Given the description of an element on the screen output the (x, y) to click on. 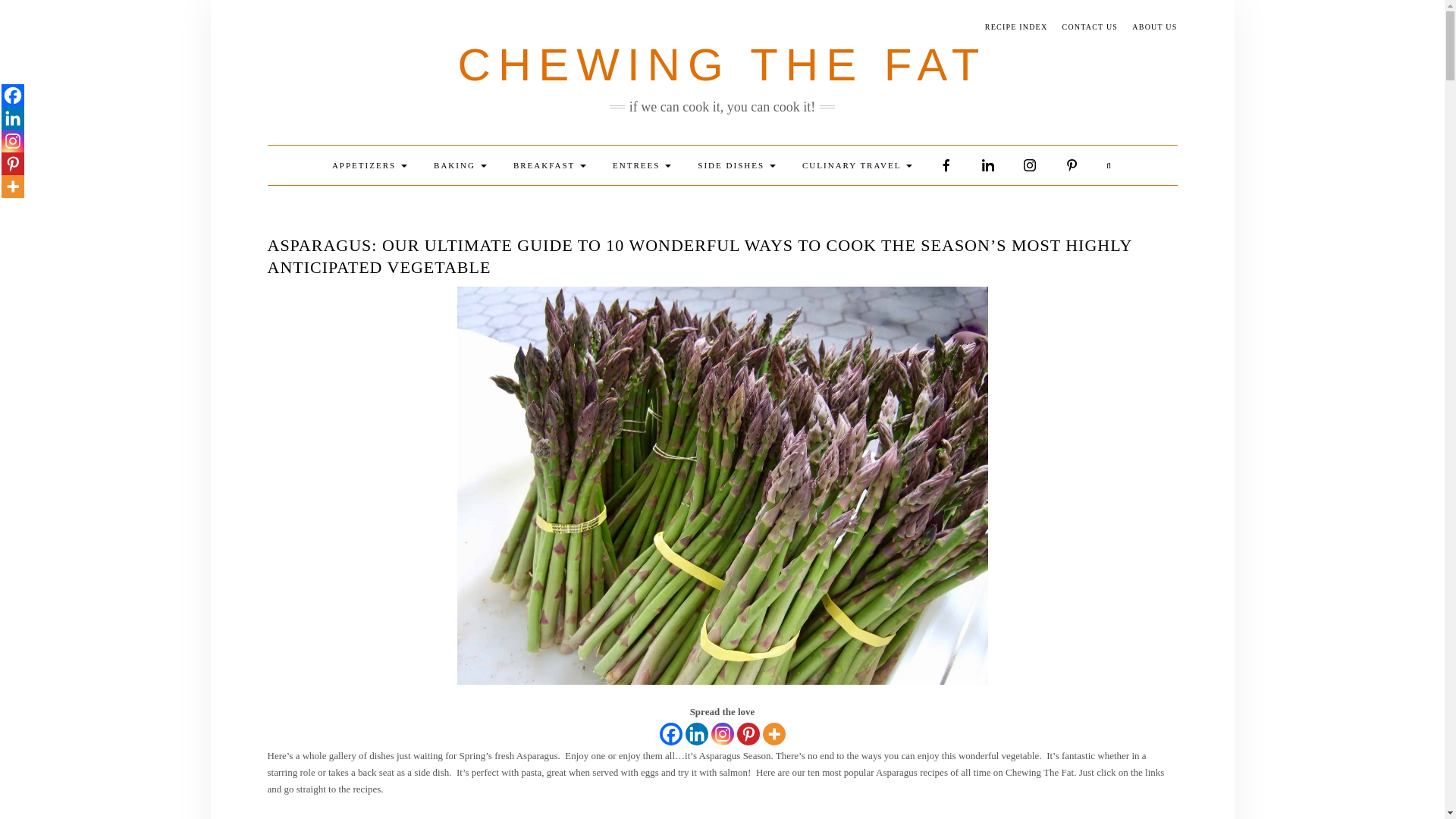
Facebook (670, 733)
Linkedin (12, 118)
ABOUT US (1154, 26)
More (12, 186)
Pinterest (748, 733)
APPETIZERS (369, 165)
RECIPE INDEX (1015, 26)
More (774, 733)
Facebook (12, 95)
CONTACT US (1090, 26)
Linkedin (696, 733)
Instagram (722, 733)
Instagram (12, 140)
BAKING (460, 165)
CHEWING THE FAT (722, 64)
